Given the description of an element on the screen output the (x, y) to click on. 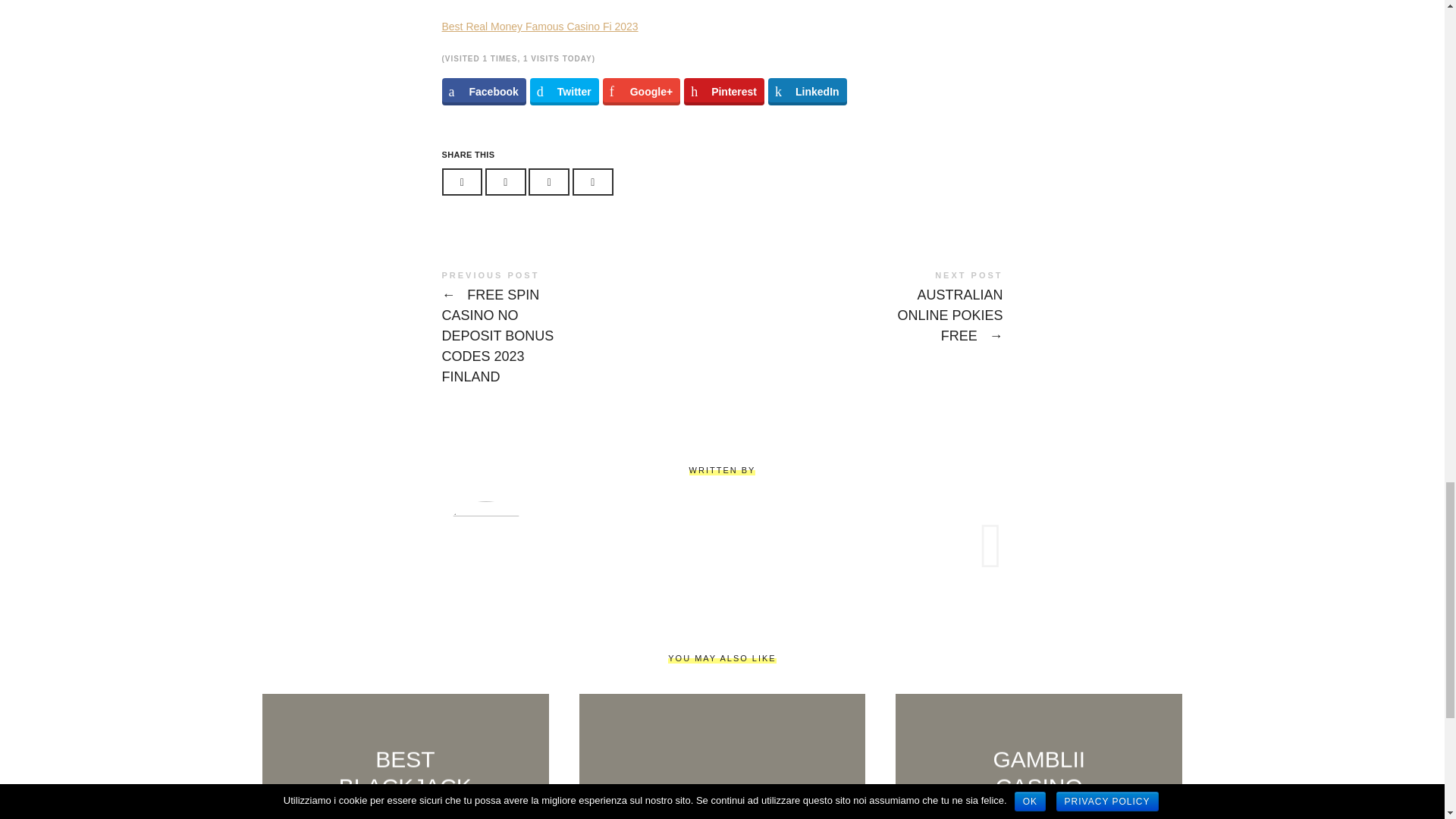
Twitter (563, 91)
Pinterest (724, 91)
Pin It (548, 182)
Share this post with your followers (504, 182)
Facebook (483, 91)
Best Real Money Famous Casino Fi 2023 (539, 26)
Share this post on Facebook (461, 182)
Email this post to a friend (592, 182)
